Given the description of an element on the screen output the (x, y) to click on. 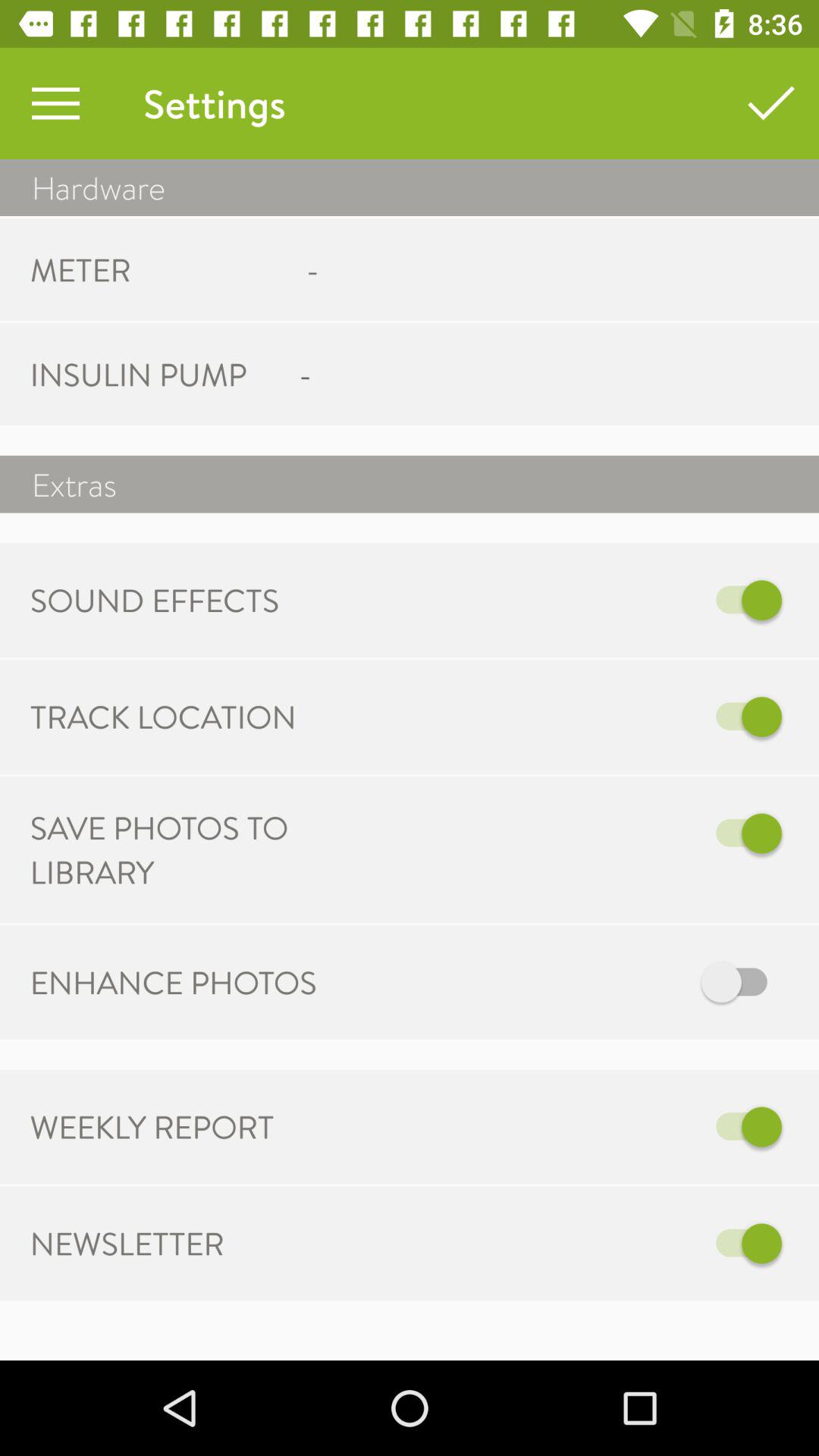
weekly report alerts are on (566, 1126)
